Given the description of an element on the screen output the (x, y) to click on. 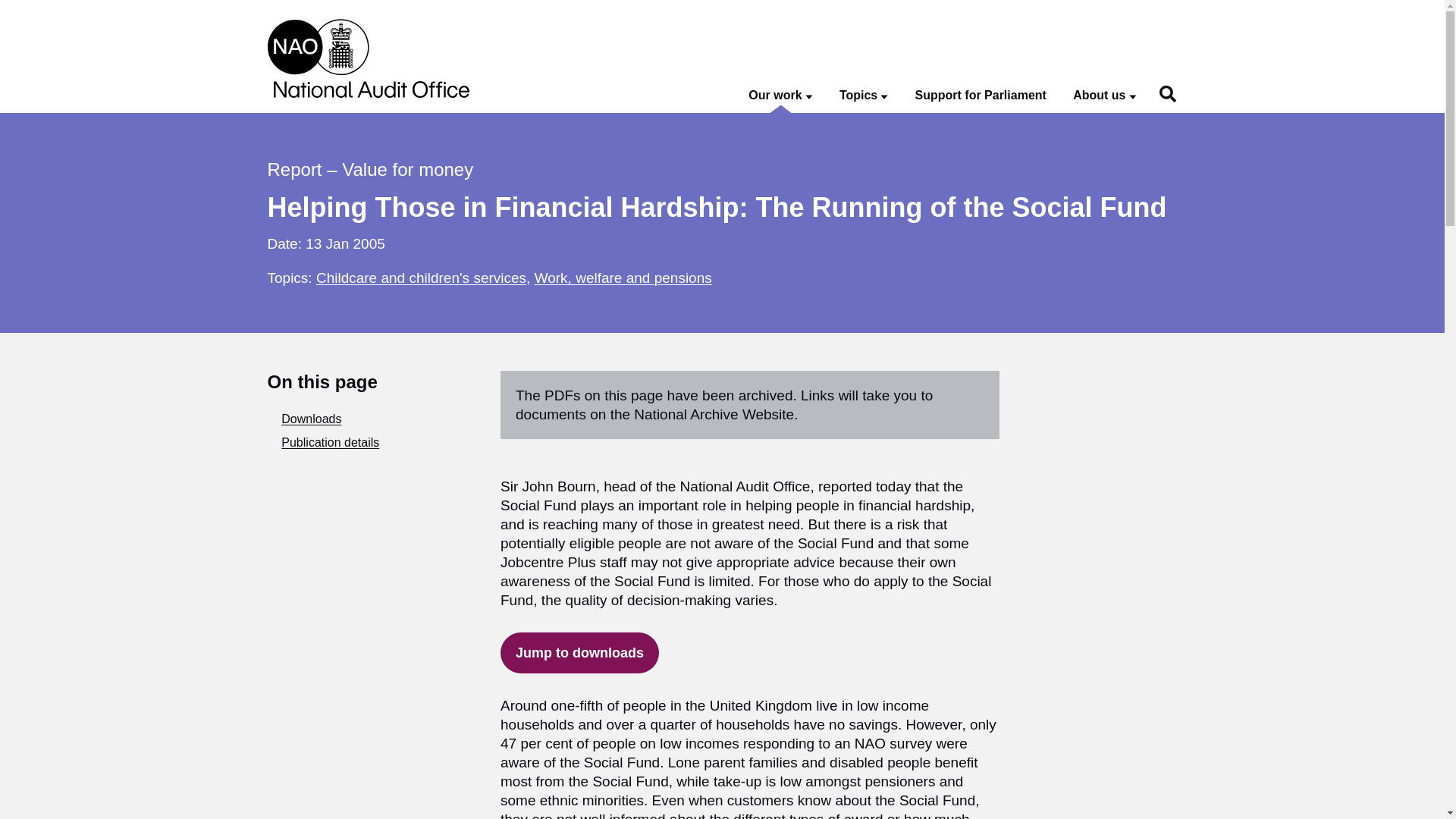
Topics (864, 95)
Skip to main content (11, 7)
Support for Parliament (980, 95)
About us (1104, 95)
Our work (780, 95)
